Given the description of an element on the screen output the (x, y) to click on. 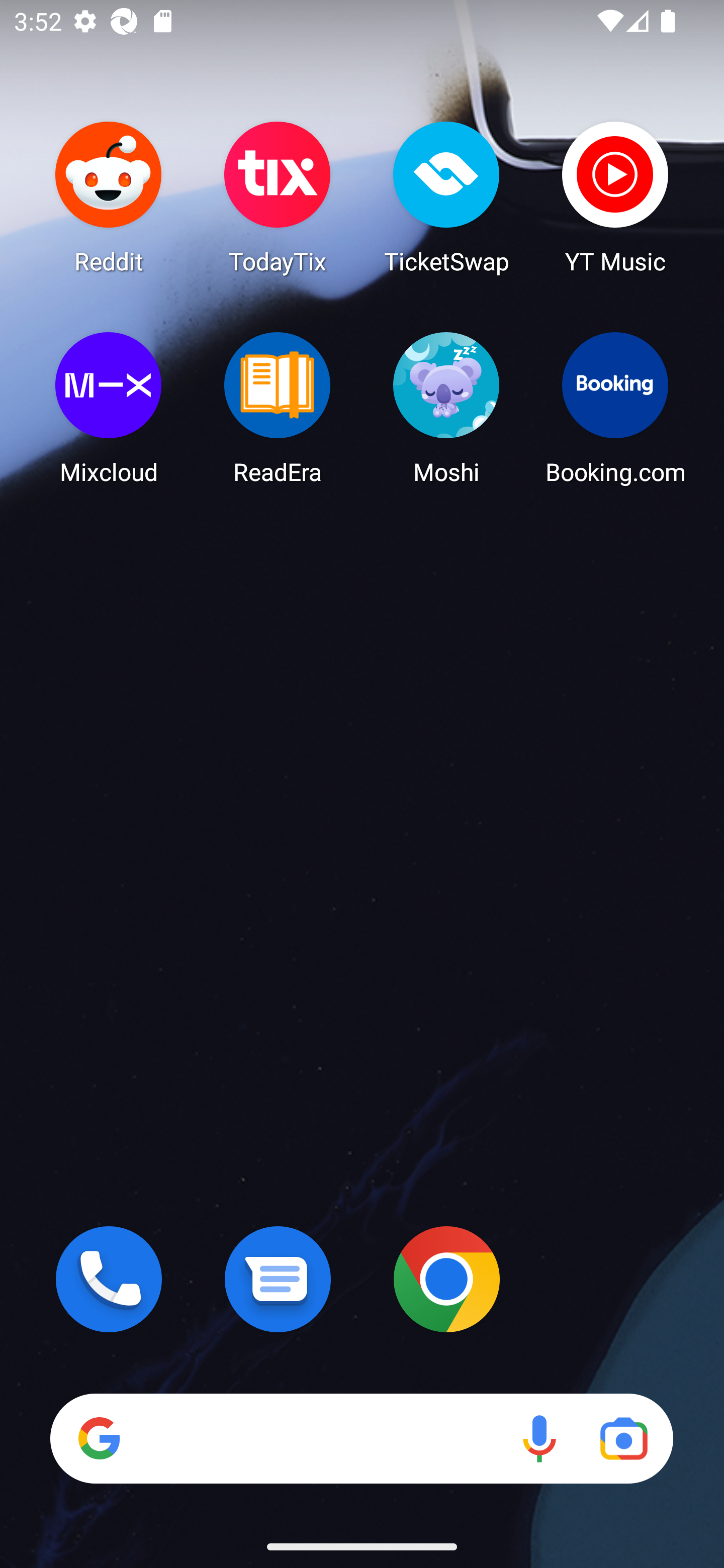
Reddit (108, 196)
TodayTix (277, 196)
TicketSwap (445, 196)
YT Music (615, 196)
Mixcloud (108, 407)
ReadEra (277, 407)
Moshi (445, 407)
Booking.com (615, 407)
Phone (108, 1279)
Messages (277, 1279)
Chrome (446, 1279)
Search Voice search Google Lens (361, 1438)
Voice search (539, 1438)
Google Lens (623, 1438)
